Given the description of an element on the screen output the (x, y) to click on. 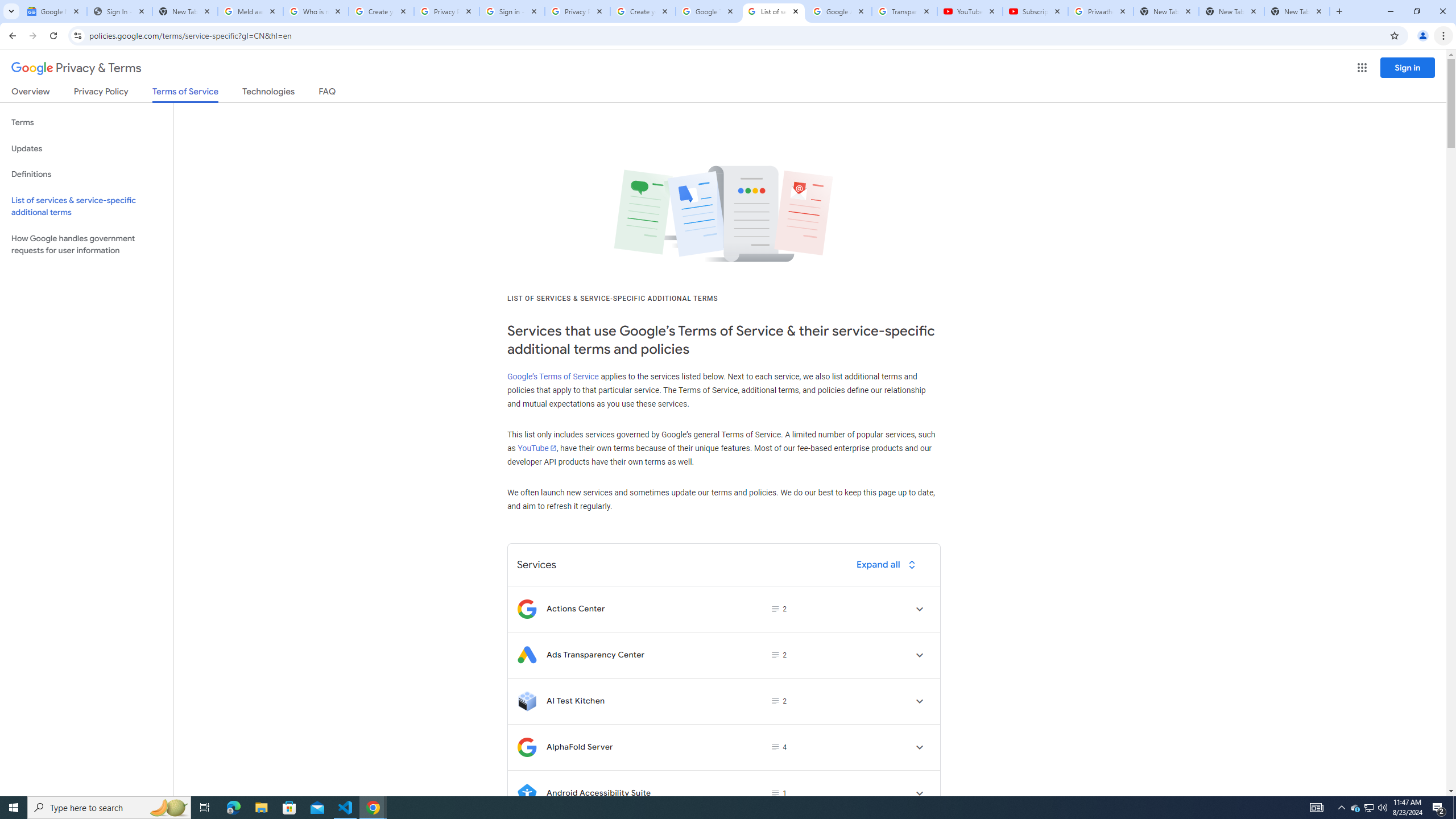
Subscriptions - YouTube (1035, 11)
Logo for Android Accessibility Suite (526, 792)
